Given the description of an element on the screen output the (x, y) to click on. 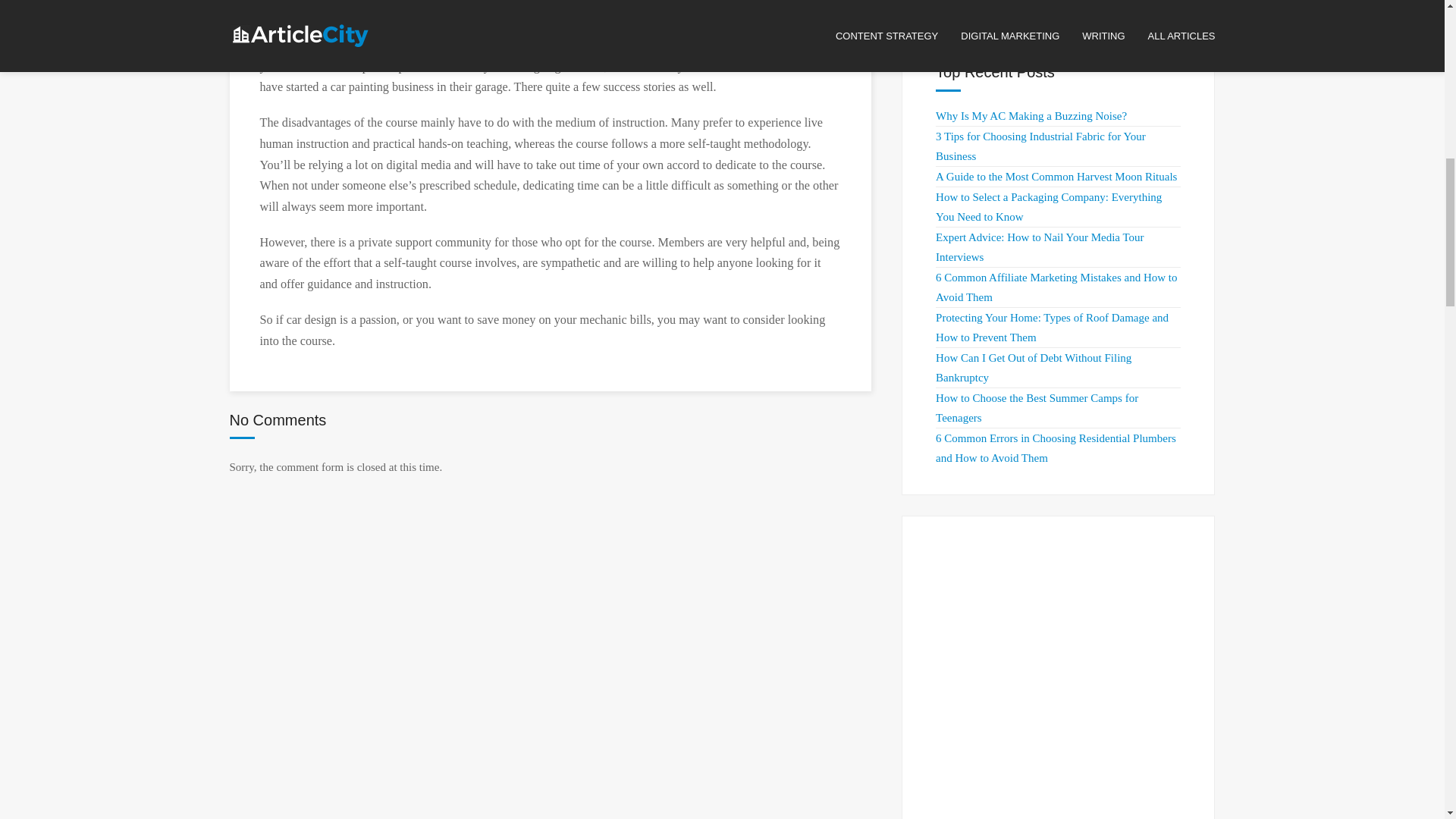
How Can I Get Out of Debt Without Filing Bankruptcy (1033, 368)
3 Tips for Choosing Industrial Fabric for Your Business (1040, 146)
Why Is My AC Making a Buzzing Noise? (1031, 115)
How to Choose the Best Summer Camps for Teenagers (1037, 408)
Expert Advice: How to Nail Your Media Tour Interviews (1039, 246)
6 Common Affiliate Marketing Mistakes and How to Avoid Them (1056, 287)
A Guide to the Most Common Harvest Moon Rituals (1056, 176)
